Given the description of an element on the screen output the (x, y) to click on. 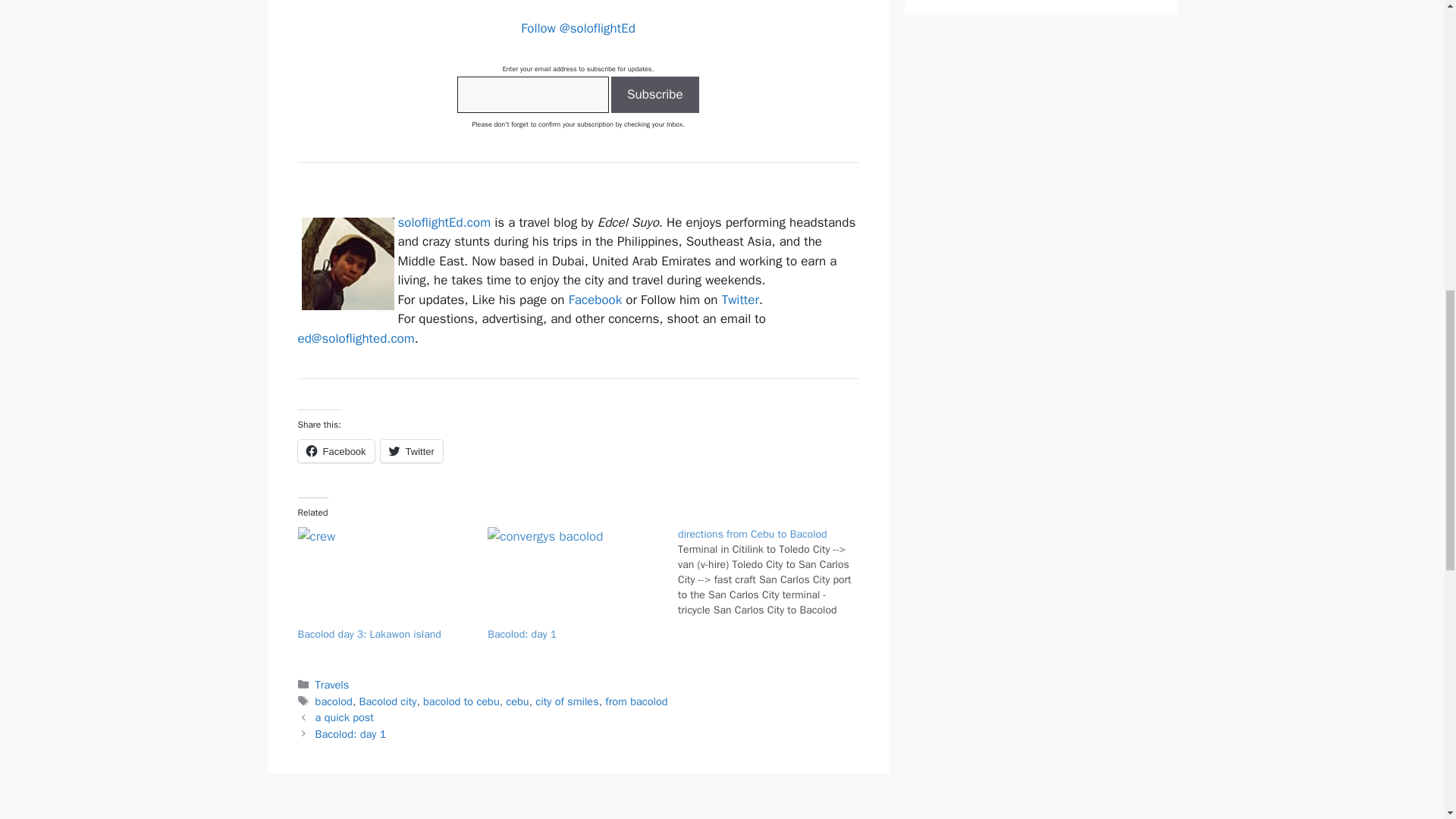
Bacolod: day 1 (521, 634)
Bacolod: day 1 (351, 734)
Bacolod: day 1 (521, 634)
from bacolod (635, 701)
Twitter (411, 450)
Bacolod day 3: Lakawon island (369, 634)
bacolod (333, 701)
directions from Cebu to Bacolod (752, 533)
Subscribe (654, 94)
a quick post (344, 716)
soloflightEd.com (443, 222)
Click to share on Twitter (411, 450)
Twitter (740, 299)
Bacolod day 3: Lakawon island (384, 577)
Travels (332, 684)
